Given the description of an element on the screen output the (x, y) to click on. 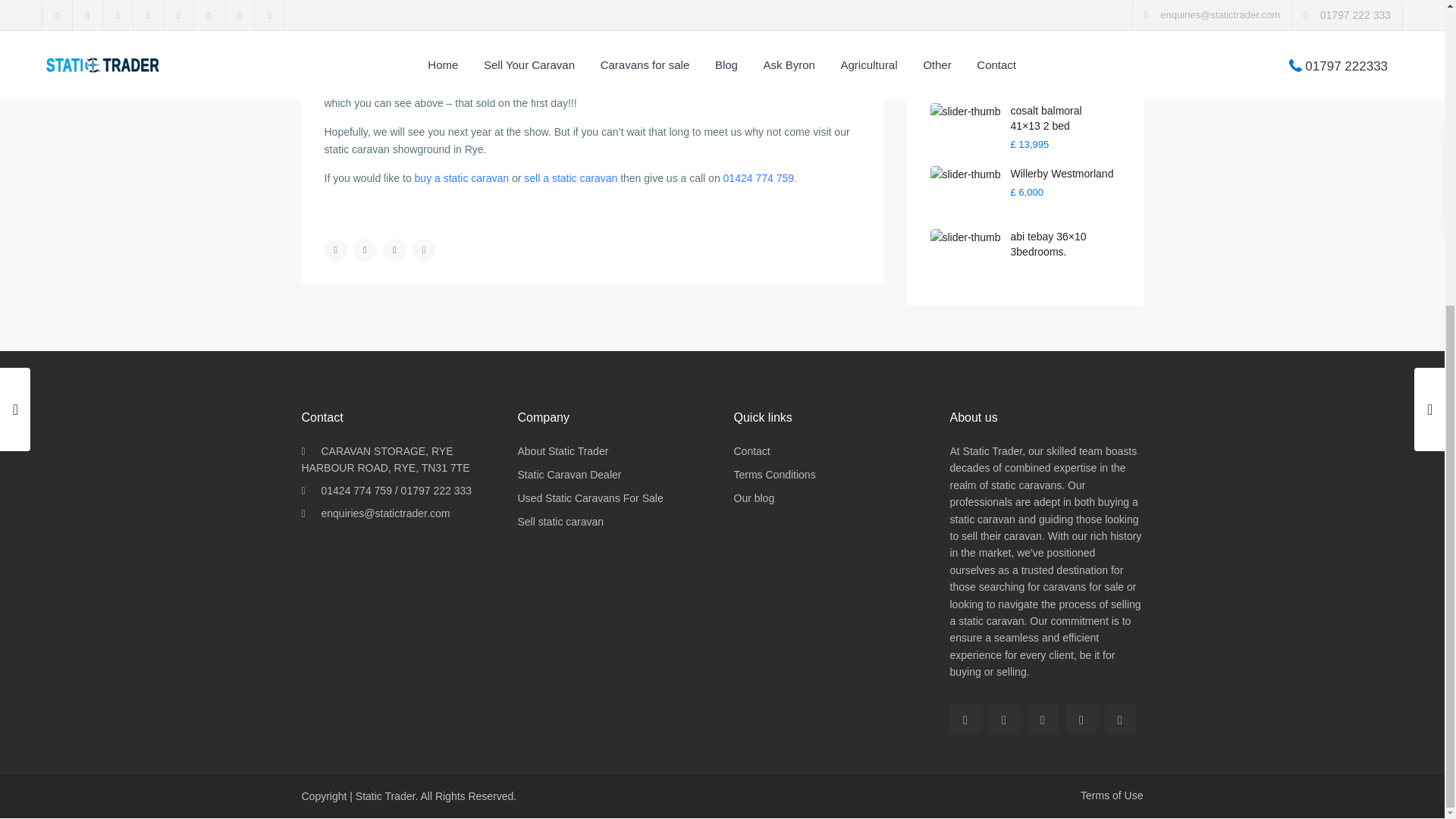
Static Caravans For Sale (589, 498)
Static Caravan Dealer (568, 474)
Sell static caravan (560, 521)
About Static Trader (562, 451)
